Given the description of an element on the screen output the (x, y) to click on. 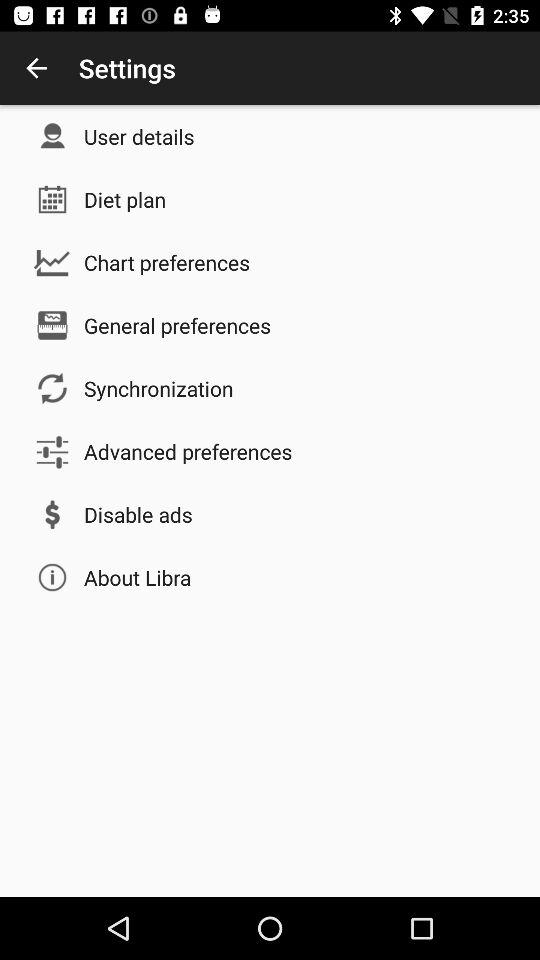
turn on item below disable ads item (137, 577)
